Given the description of an element on the screen output the (x, y) to click on. 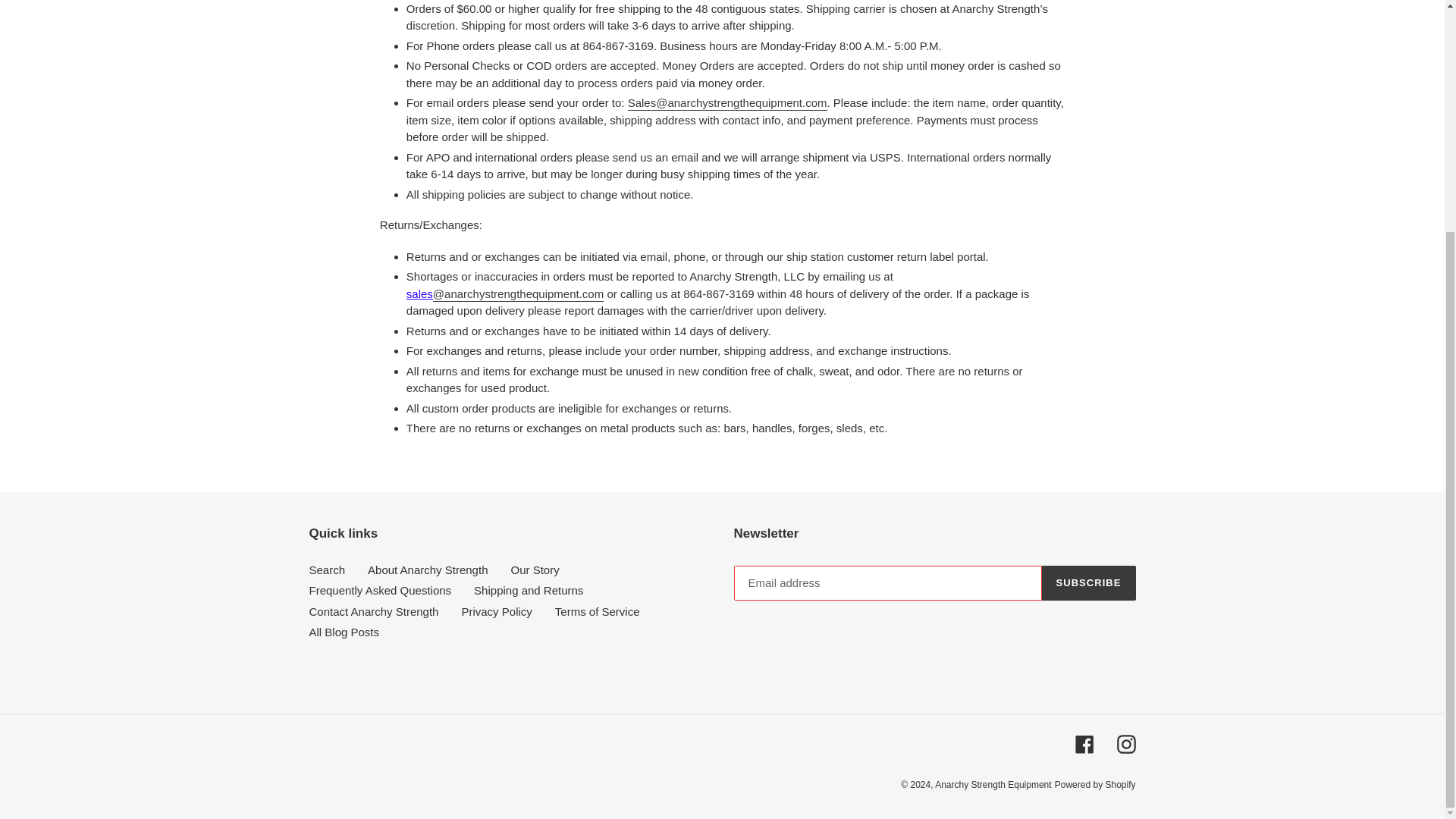
Contact Anarchy Strength (373, 611)
Shipping and Returns (528, 590)
Search (327, 569)
All Blog Posts (344, 631)
Terms of Service (597, 611)
About Anarchy Strength (427, 569)
Frequently Asked Questions (379, 590)
Our Story (535, 569)
Privacy Policy (496, 611)
